Given the description of an element on the screen output the (x, y) to click on. 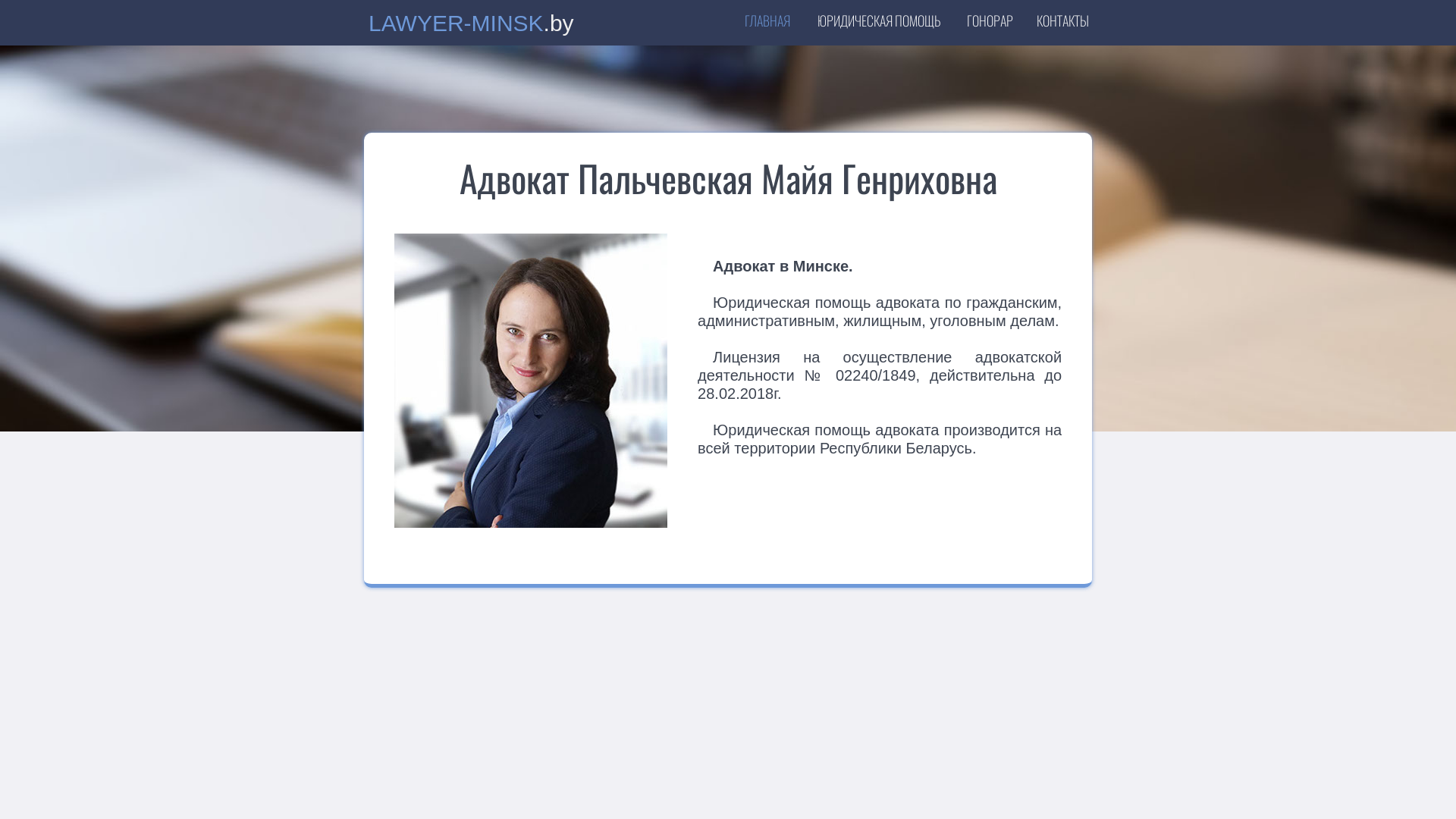
LAWYER-MINSK.by Element type: text (474, 26)
